Given the description of an element on the screen output the (x, y) to click on. 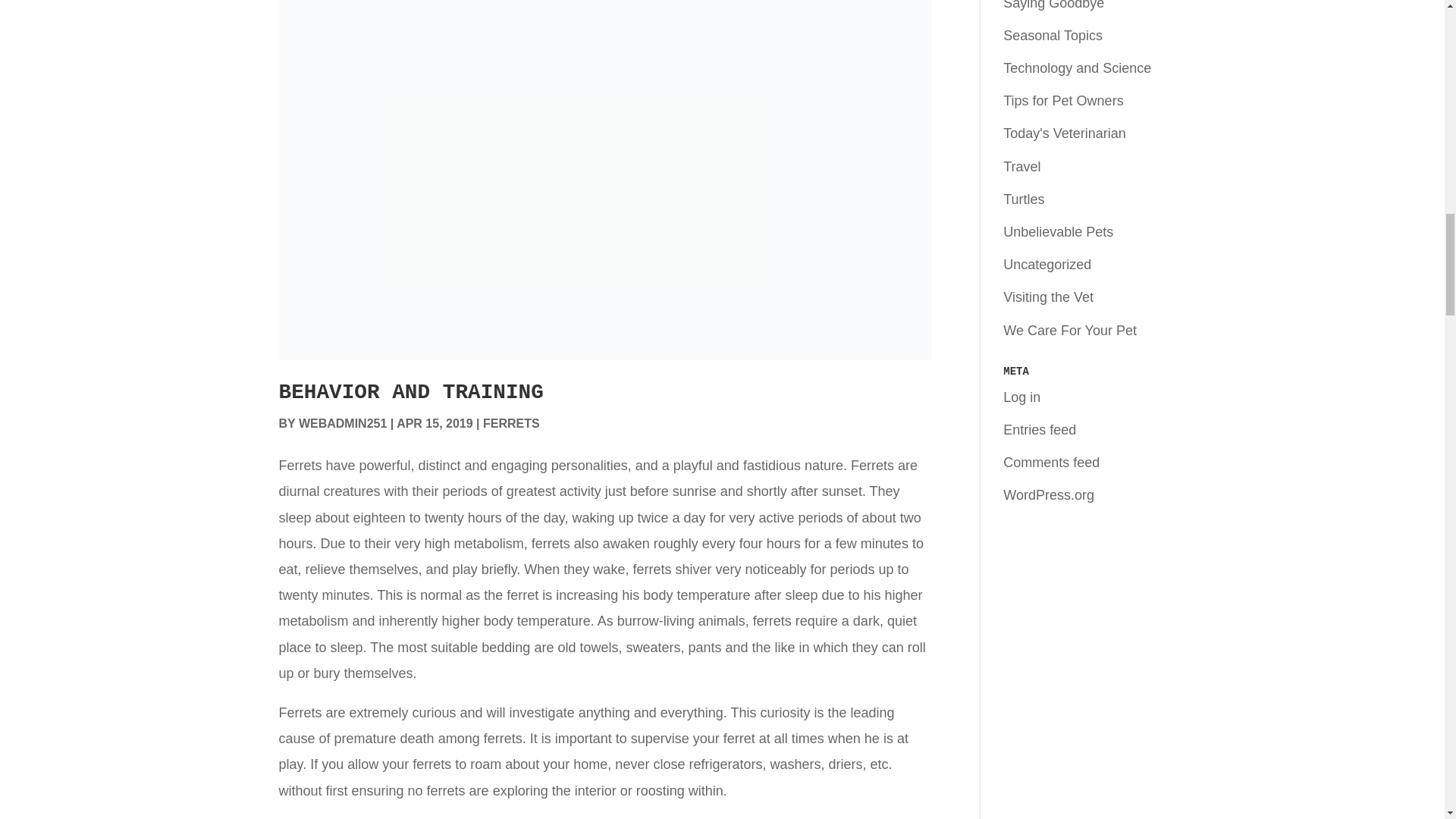
BEHAVIOR AND TRAINING (411, 392)
Posts by webadmin251 (342, 422)
WEBADMIN251 (342, 422)
